Given the description of an element on the screen output the (x, y) to click on. 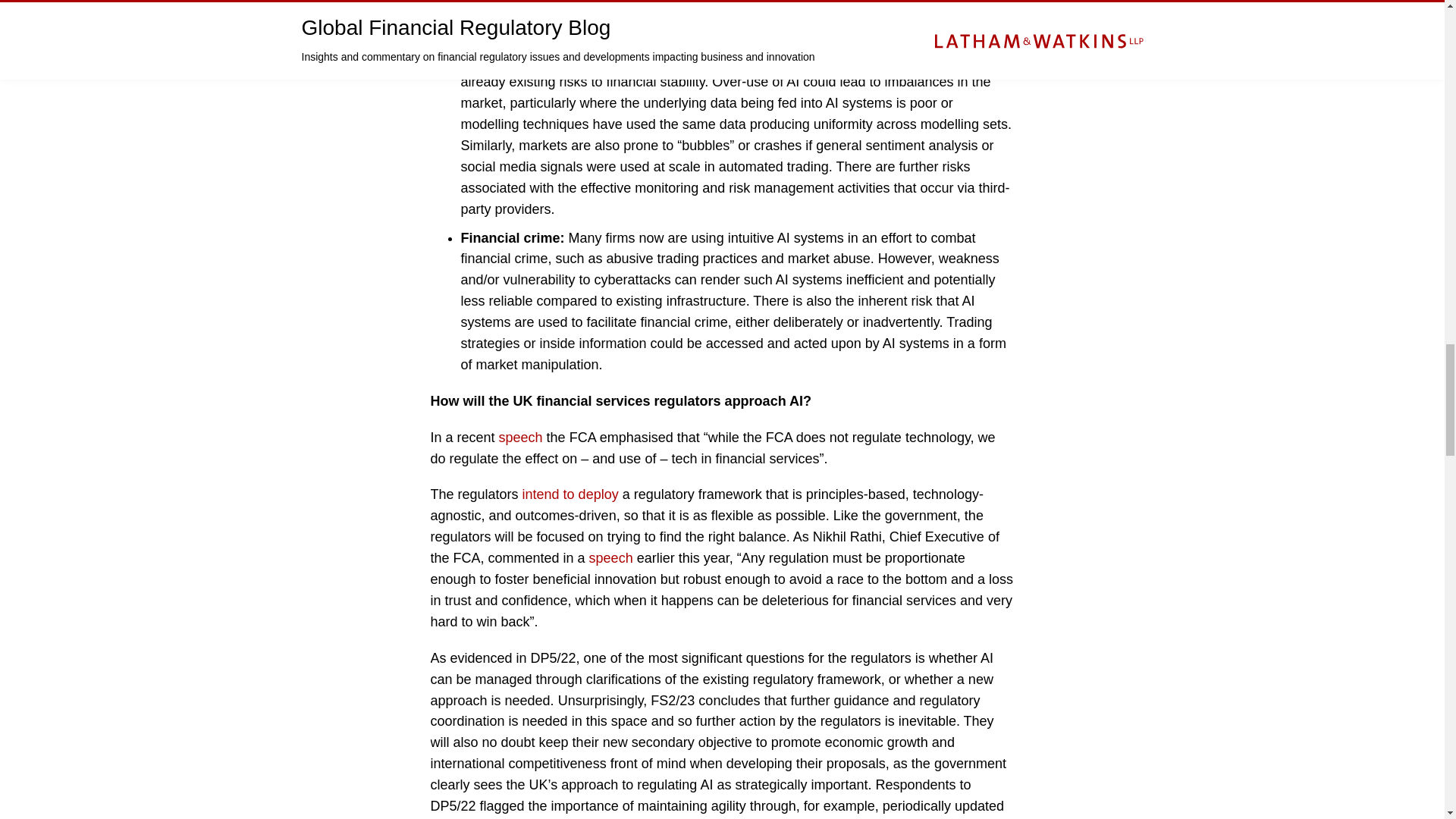
intend to deploy (570, 494)
speech (611, 557)
speech (521, 437)
